Given the description of an element on the screen output the (x, y) to click on. 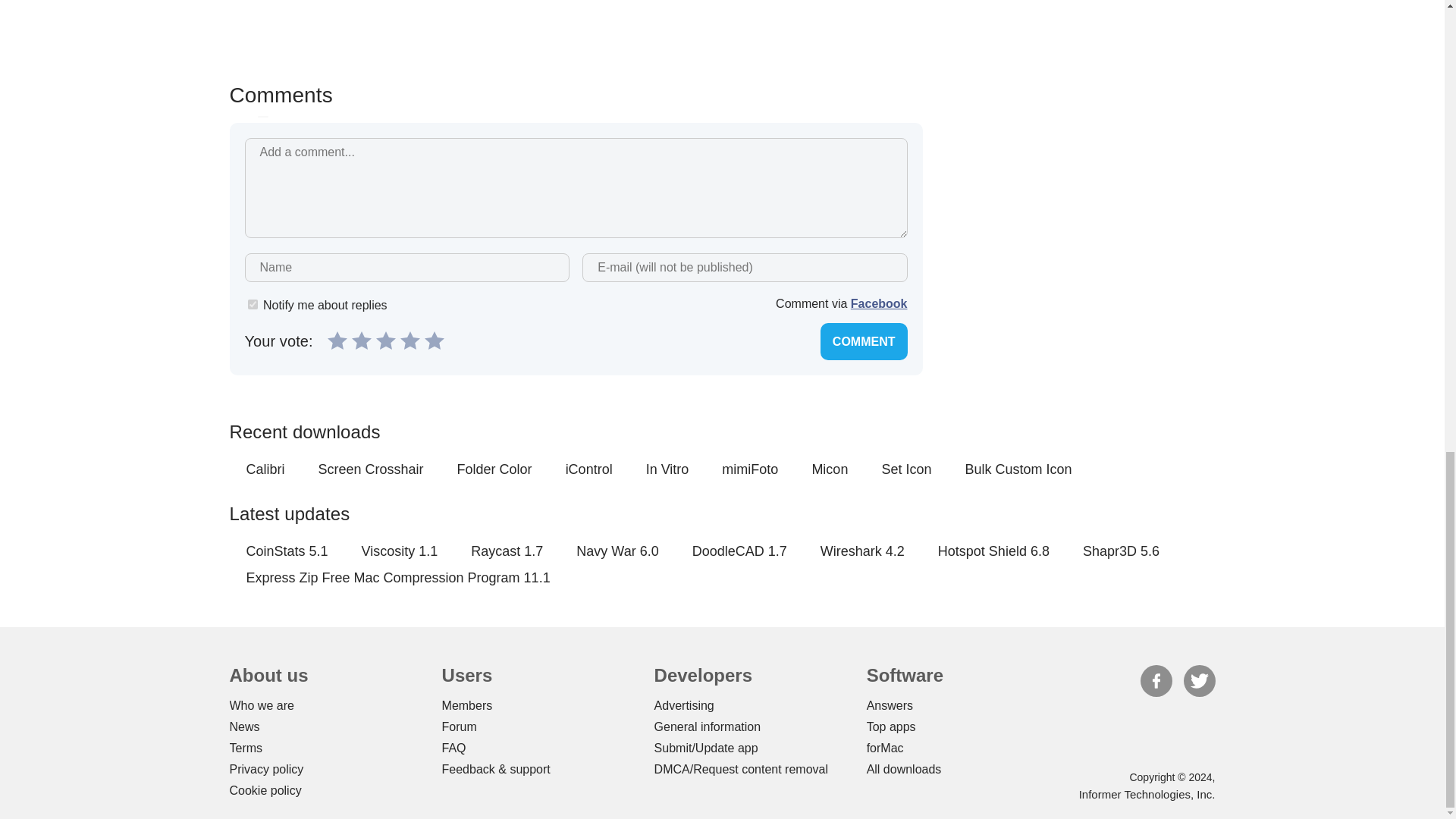
1 (336, 340)
Calibri (264, 469)
2 (361, 340)
Screen Crosshair (370, 469)
1 (252, 304)
4 (409, 340)
3 (385, 340)
Folder Color (494, 469)
Comment (864, 341)
In Vitro (667, 469)
Comment (864, 341)
iControl (589, 469)
5 (434, 340)
